Given the description of an element on the screen output the (x, y) to click on. 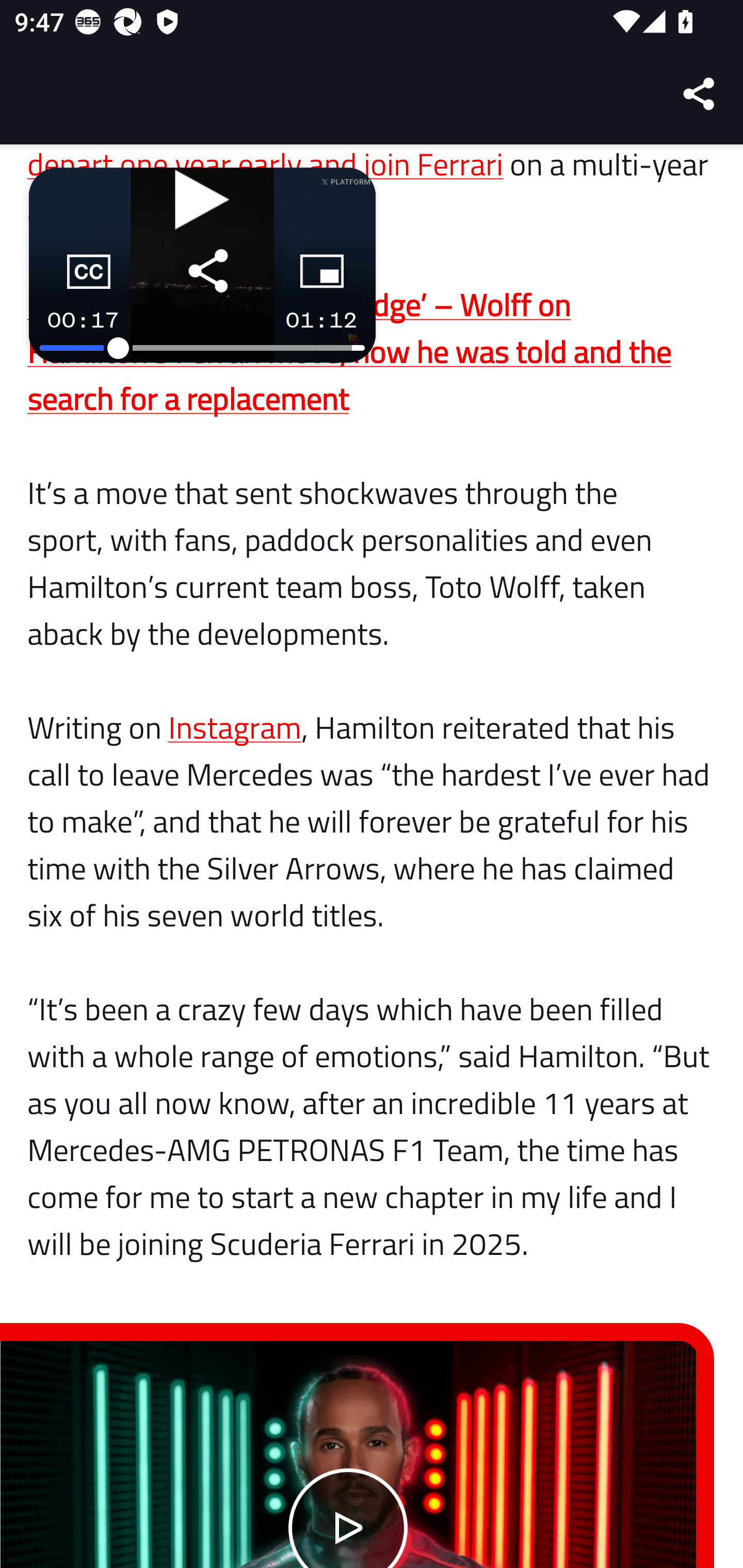
Share (699, 93)
Lewis Hamilton signs for Ferrari in 2025 - Image (349, 1454)
